Given the description of an element on the screen output the (x, y) to click on. 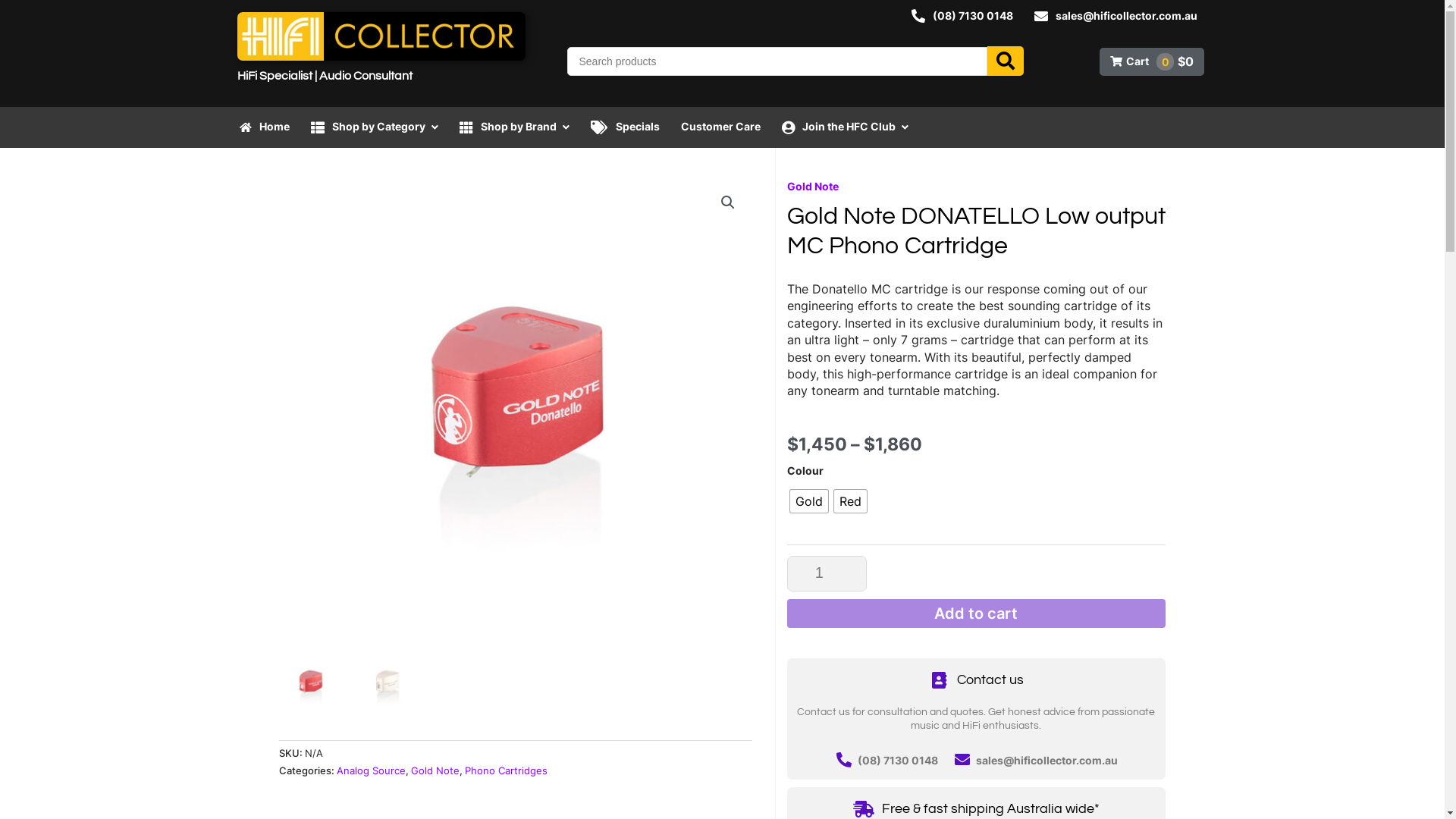
Phono Cartridges Element type: text (505, 770)
Gold Note Element type: text (812, 186)
Shop by Brand Element type: text (514, 126)
Specials Element type: text (625, 126)
Shop by Category Element type: text (374, 126)
Cart
0
$0 Element type: text (1151, 61)
side-gold Element type: hover (988, 414)
Customer Care Element type: text (720, 126)
Gold Note Element type: text (435, 770)
Add to cart Element type: text (976, 613)
sales@hificollector.com.au Element type: text (1115, 15)
Home Element type: text (264, 126)
(08) 7130 0148 Element type: text (897, 759)
side-red Element type: hover (515, 414)
Join the HFC Club Element type: text (845, 126)
sales@hificollector.com.au Element type: text (1046, 759)
Analog Source Element type: text (370, 770)
(08) 7130 0148 Element type: text (961, 15)
